Given the description of an element on the screen output the (x, y) to click on. 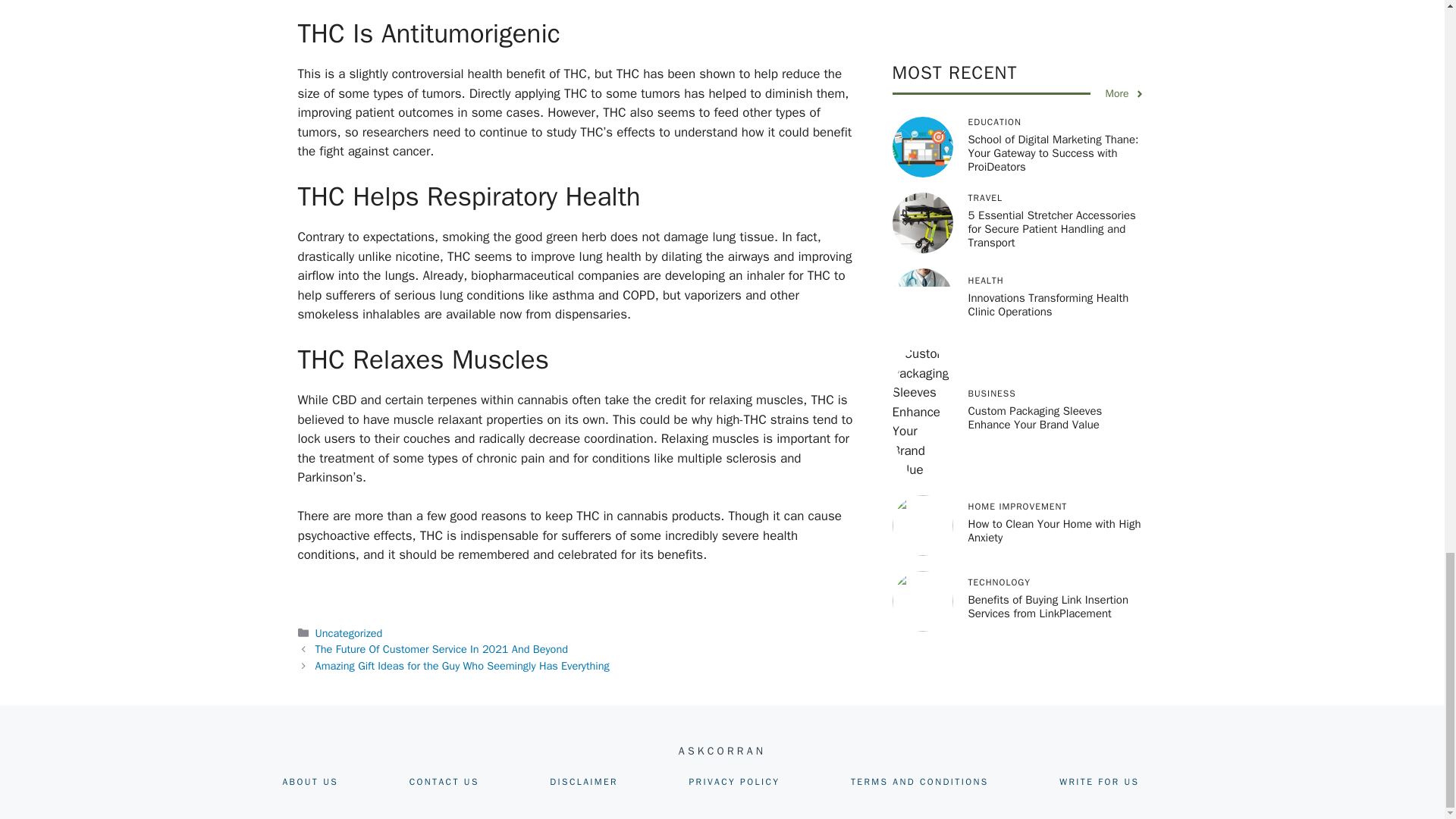
Amazing Gift Ideas for the Guy Who Seemingly Has Everything (462, 665)
The Future Of Customer Service In 2021 And Beyond (441, 649)
Uncategorized (348, 632)
